Given the description of an element on the screen output the (x, y) to click on. 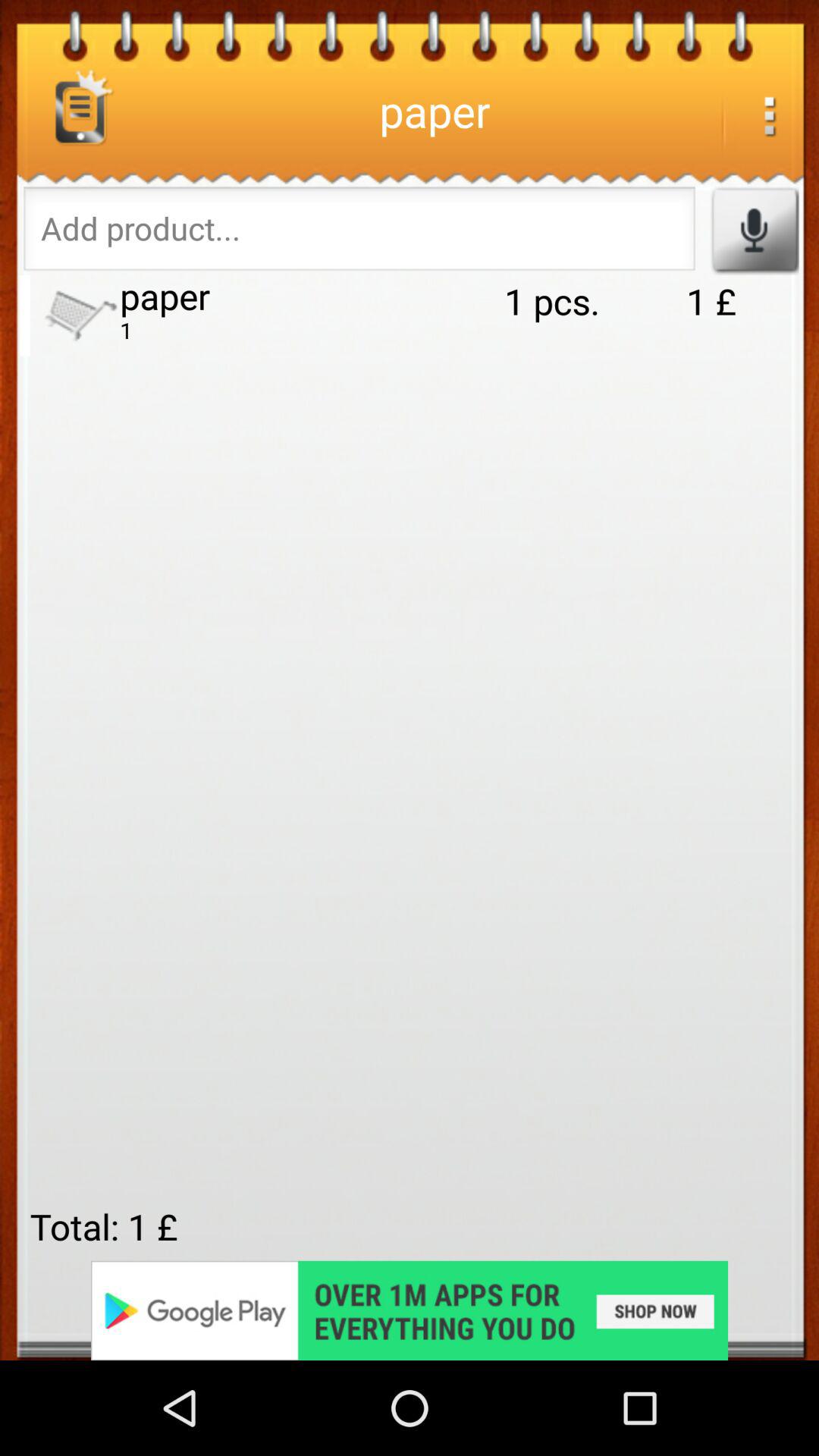
record (754, 230)
